Given the description of an element on the screen output the (x, y) to click on. 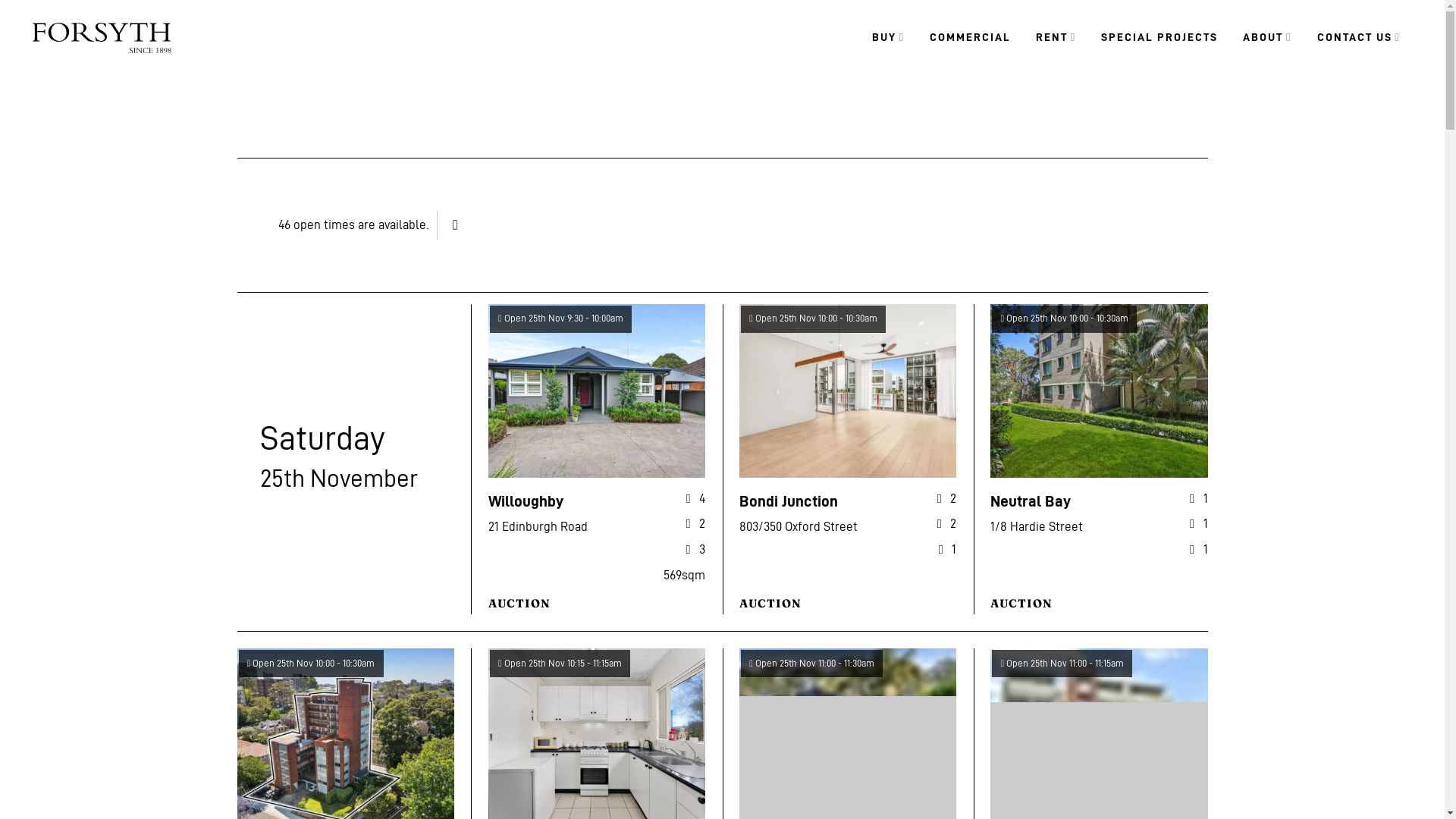
Open 25th Nov 10:00 - 10:30am Element type: text (1063, 318)
Open 25th Nov 10:00 - 10:30am Element type: text (310, 663)
Willoughby
21 Edinburgh Road
AUCTION
 4
 2
 3
 569sqm Element type: text (596, 458)
Open 25th Nov 10:15 - 11:15am Element type: text (559, 663)
Neutral Bay
1/8 Hardie Street
AUCTION
 1
 1
 1 Element type: text (1098, 458)
CONTACT US Element type: text (1358, 38)
Bondi Junction
803/350 Oxford Street
AUCTION
 2
 2
 1 Element type: text (847, 458)
Open 25th Nov 11:00 - 11:15am Element type: text (1061, 663)
SPECIAL PROJECTS Element type: text (1159, 38)
BUY Element type: text (888, 38)
ABOUT Element type: text (1266, 38)
Open 25th Nov 9:30 - 10:00am Element type: text (560, 318)
RENT Element type: text (1055, 38)
COMMERCIAL Element type: text (970, 38)
Open 25th Nov 10:00 - 10:30am Element type: text (812, 318)
Open 25th Nov 11:00 - 11:30am Element type: text (811, 663)
